Given the description of an element on the screen output the (x, y) to click on. 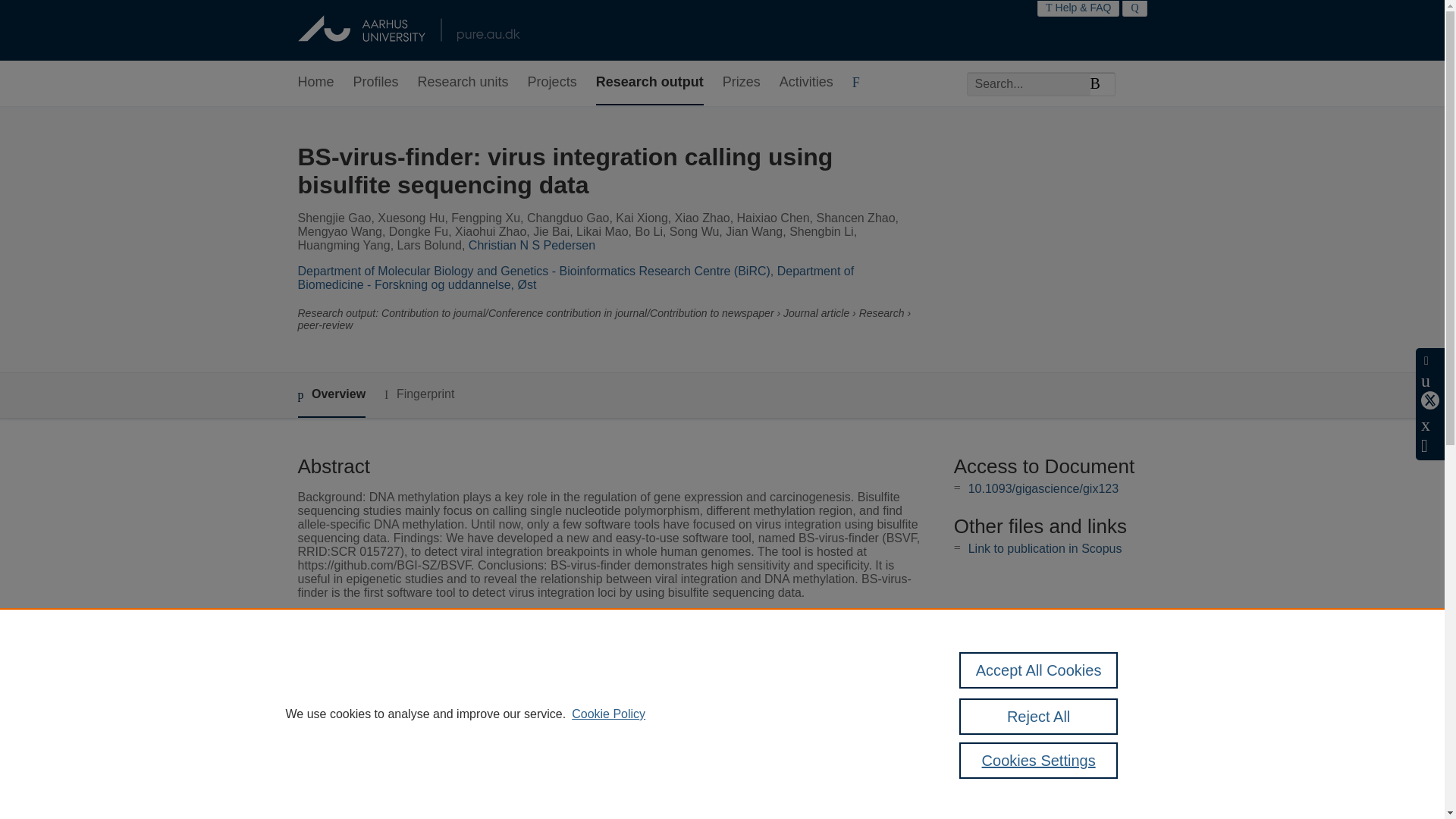
GigaScience (545, 648)
Research output (649, 82)
Overview (331, 395)
Research units (462, 82)
Christian N S Pedersen (531, 245)
Profiles (375, 82)
Activities (805, 82)
Projects (551, 82)
Link to publication in Scopus (1045, 548)
Aarhus University Home (408, 30)
